Given the description of an element on the screen output the (x, y) to click on. 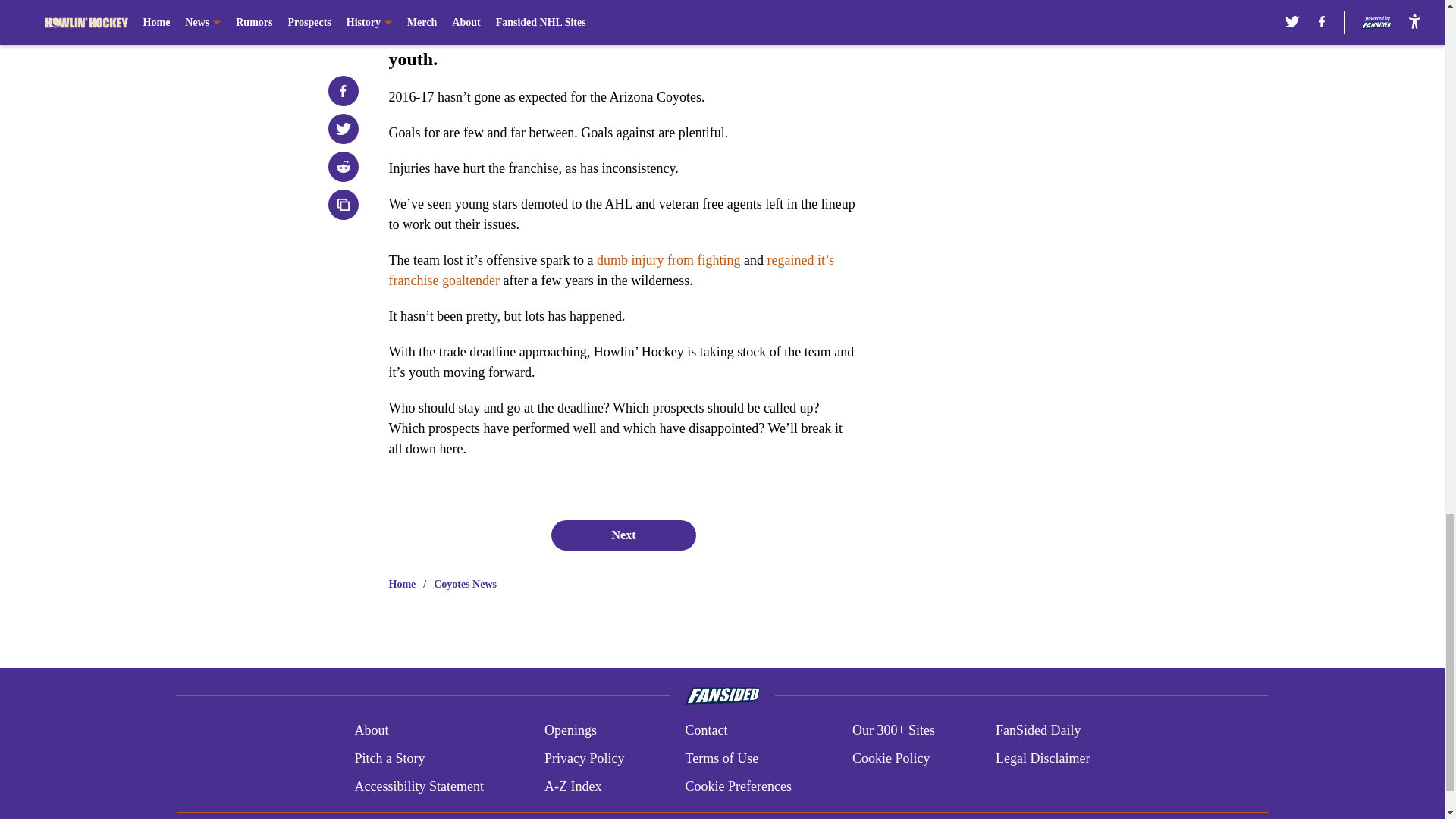
Openings (570, 729)
FanSided Daily (1038, 729)
dumb injury from fighting (667, 259)
Contact (705, 729)
Privacy Policy (584, 758)
Next (622, 534)
Home (401, 584)
About (370, 729)
Terms of Use (721, 758)
Coyotes News (464, 584)
